Given the description of an element on the screen output the (x, y) to click on. 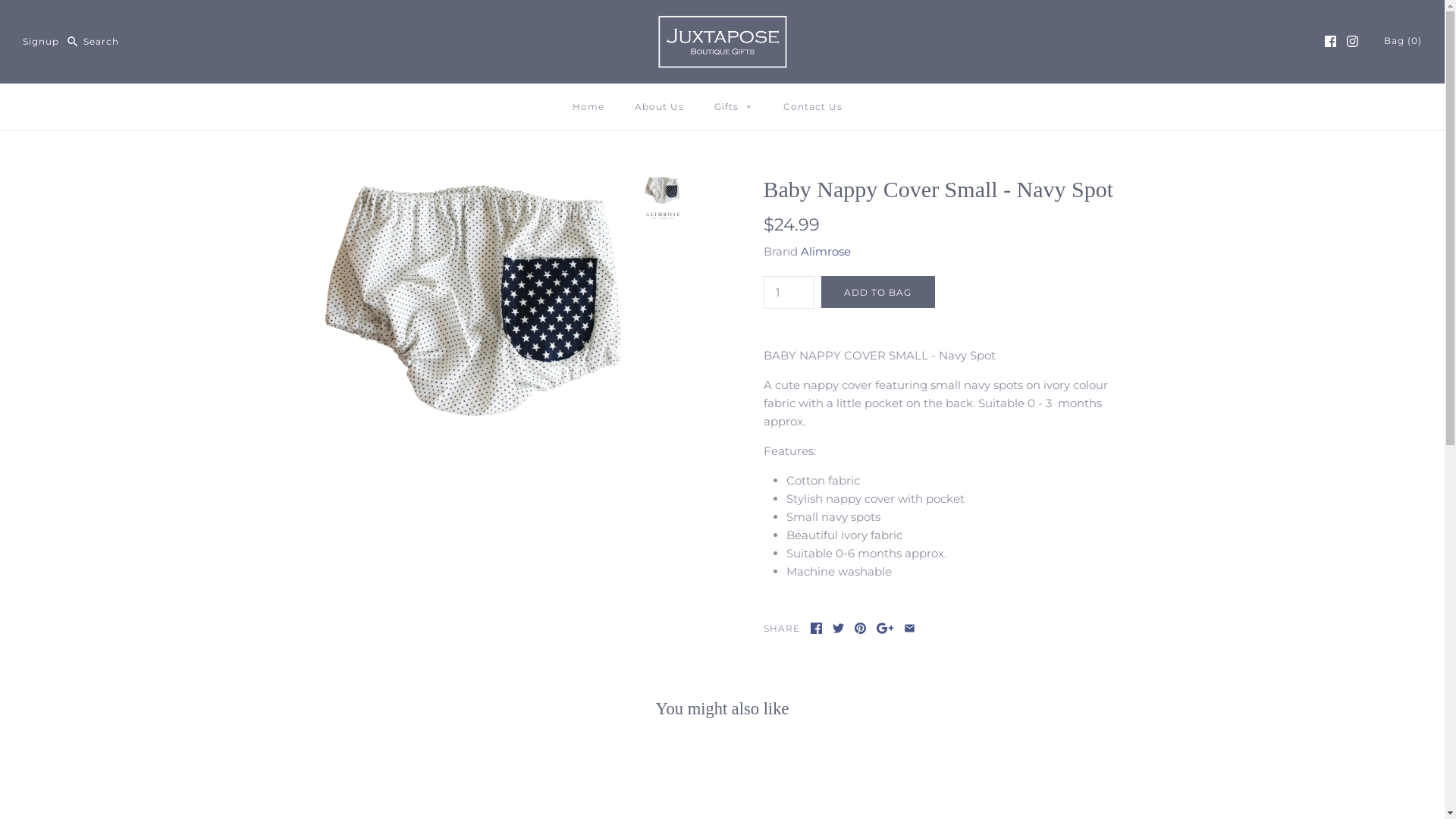
Home Element type: text (587, 106)
Signup Element type: text (40, 41)
GooglePlus Element type: text (885, 627)
Bag (0) Element type: text (1402, 40)
Baby Nappy Cover Small - Navy Spot Element type: hover (473, 184)
Facebook Element type: text (1330, 41)
Pinterest Element type: text (859, 627)
Alimrose Element type: text (825, 251)
Juxtapose Gifts Element type: hover (722, 23)
Facebook Element type: text (815, 627)
Gifts + Element type: text (733, 106)
Baby Nappy Cover Small - Navy Spot Element type: hover (661, 221)
About Us Element type: text (658, 106)
Instagram Element type: text (1352, 41)
Contact Us Element type: text (811, 106)
Twitter Element type: text (838, 627)
Add to Bag Element type: text (877, 291)
Email Element type: text (909, 627)
Baby Nappy Cover Small - Navy Spot Element type: hover (661, 190)
